Given the description of an element on the screen output the (x, y) to click on. 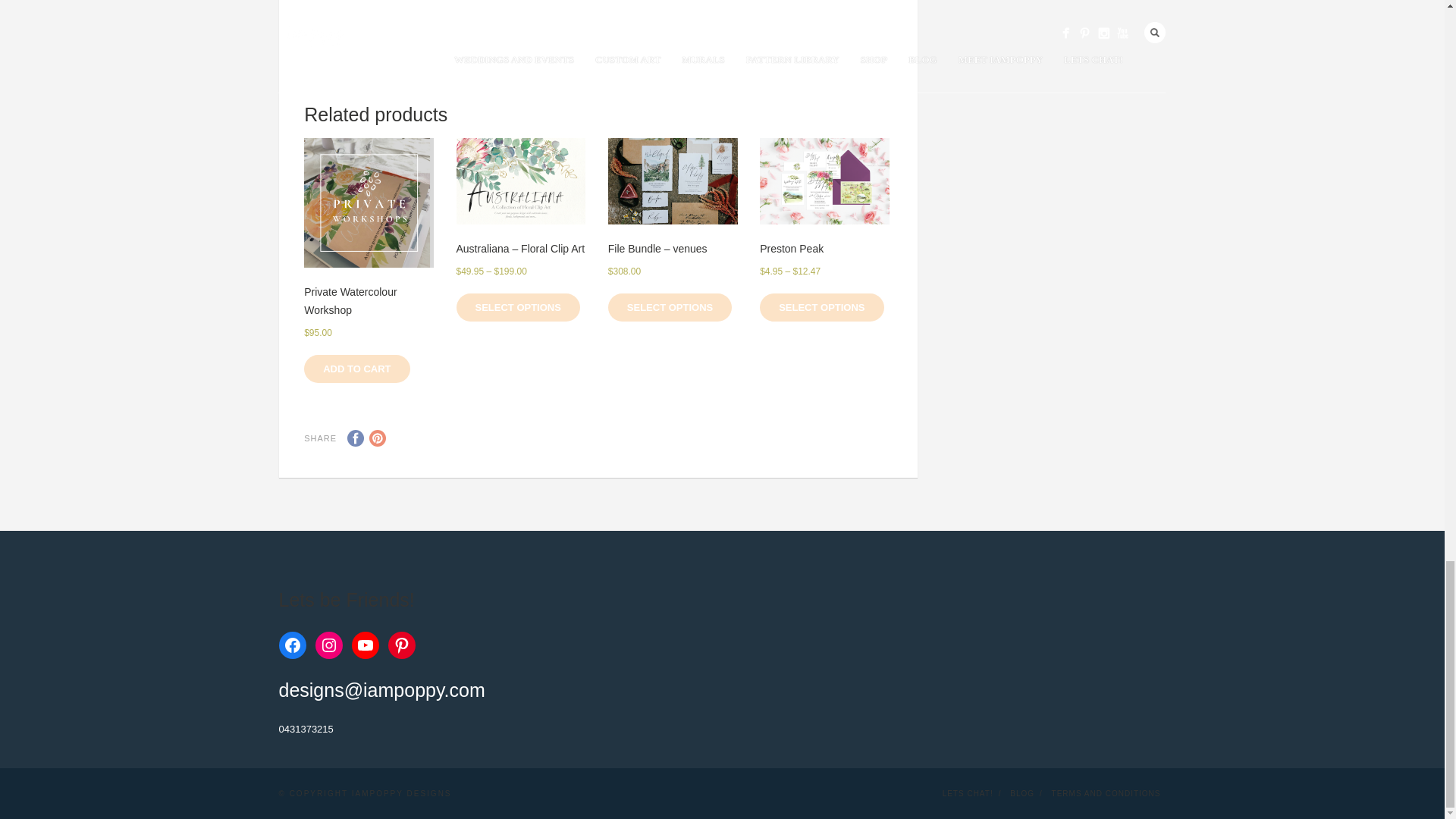
Pinterest (377, 437)
Facebook (355, 437)
